Given the description of an element on the screen output the (x, y) to click on. 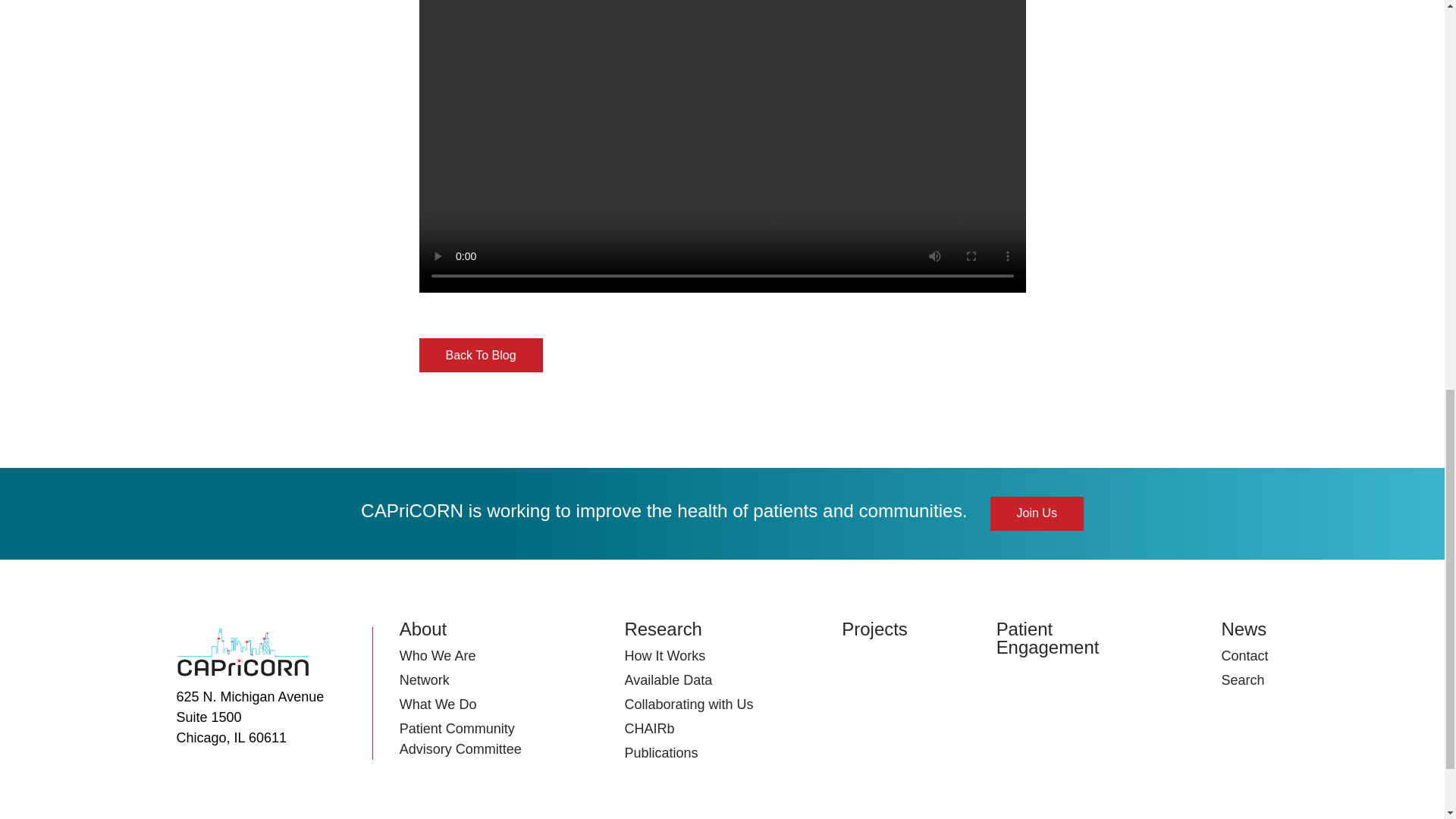
About (422, 628)
News (1243, 628)
Research (662, 628)
Collaborating with Us (688, 703)
Available Data (667, 679)
CAPriCORN (242, 653)
Join Us (1036, 513)
How It Works (664, 655)
What We Do (437, 703)
Patient Community Advisory Committee (459, 738)
